Given the description of an element on the screen output the (x, y) to click on. 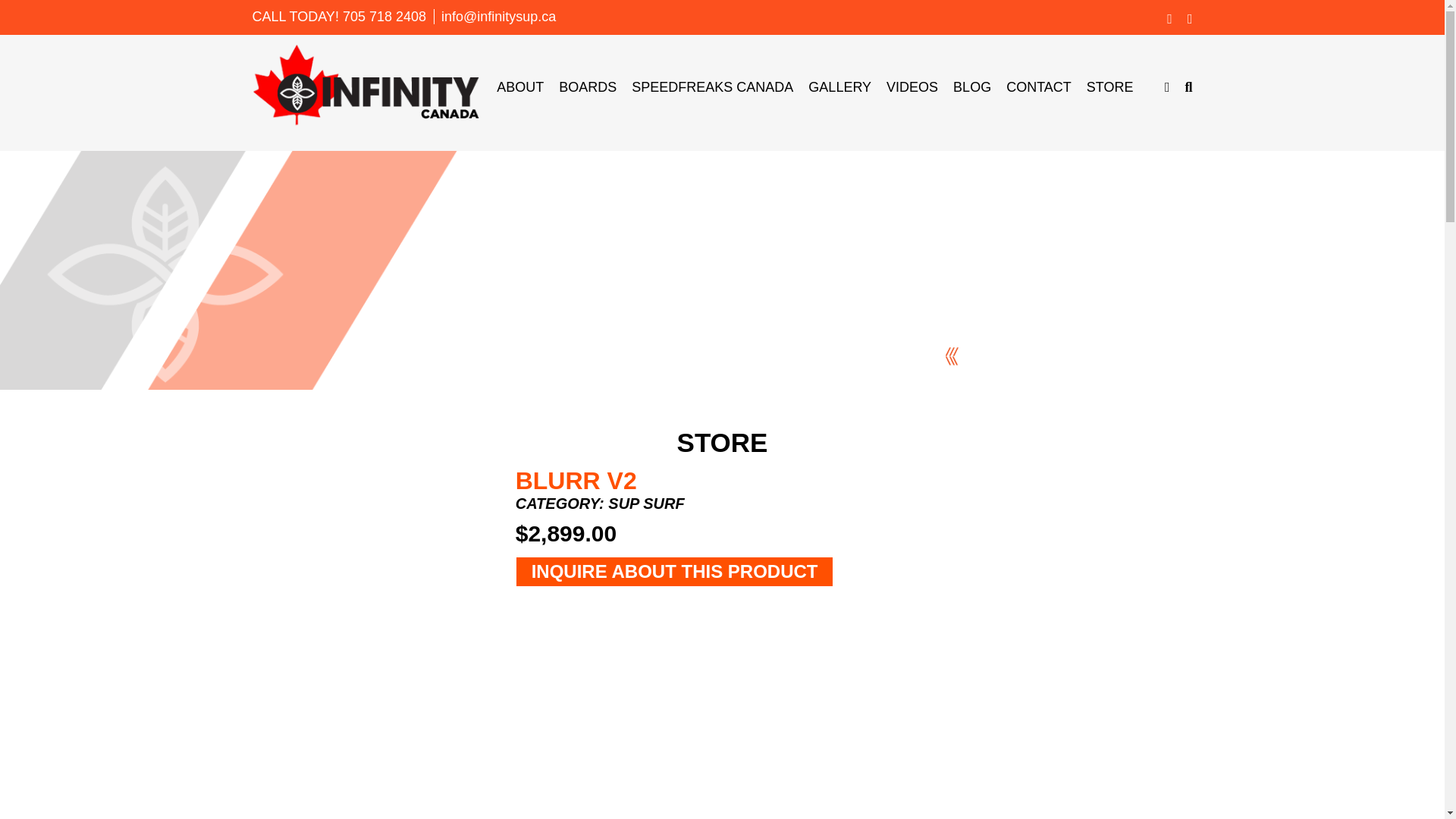
SUP SURF (646, 503)
ABOUT (519, 87)
SPEEDFREAKS CANADA (712, 87)
Contact Number (384, 16)
BLOG (972, 87)
Mail Address (498, 16)
INQUIRE ABOUT THIS PRODUCT (674, 571)
BOARDS (587, 87)
CONTACT (1038, 87)
Infinity Sup Canada (365, 84)
